Given the description of an element on the screen output the (x, y) to click on. 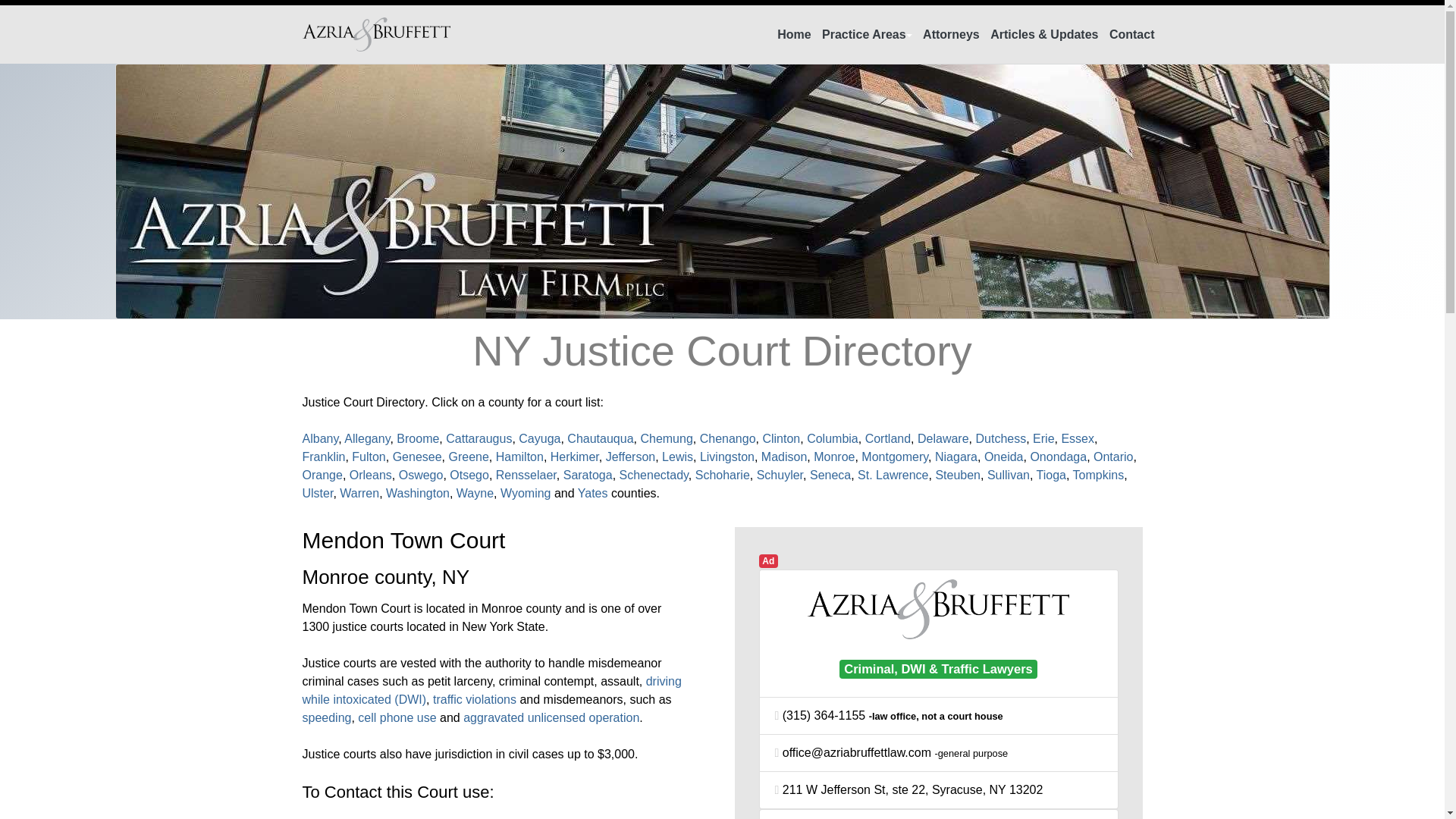
Practice Areas (863, 34)
Jefferson (630, 456)
Chenango (727, 438)
Fulton (368, 456)
Hamilton (519, 456)
Herkimer (574, 456)
Franklin (323, 456)
Home (793, 34)
Erie (1043, 438)
Chautauqua (600, 438)
Lewis (677, 456)
Dutchess (1000, 438)
Clinton (780, 438)
Greene (467, 456)
Broome (417, 438)
